Given the description of an element on the screen output the (x, y) to click on. 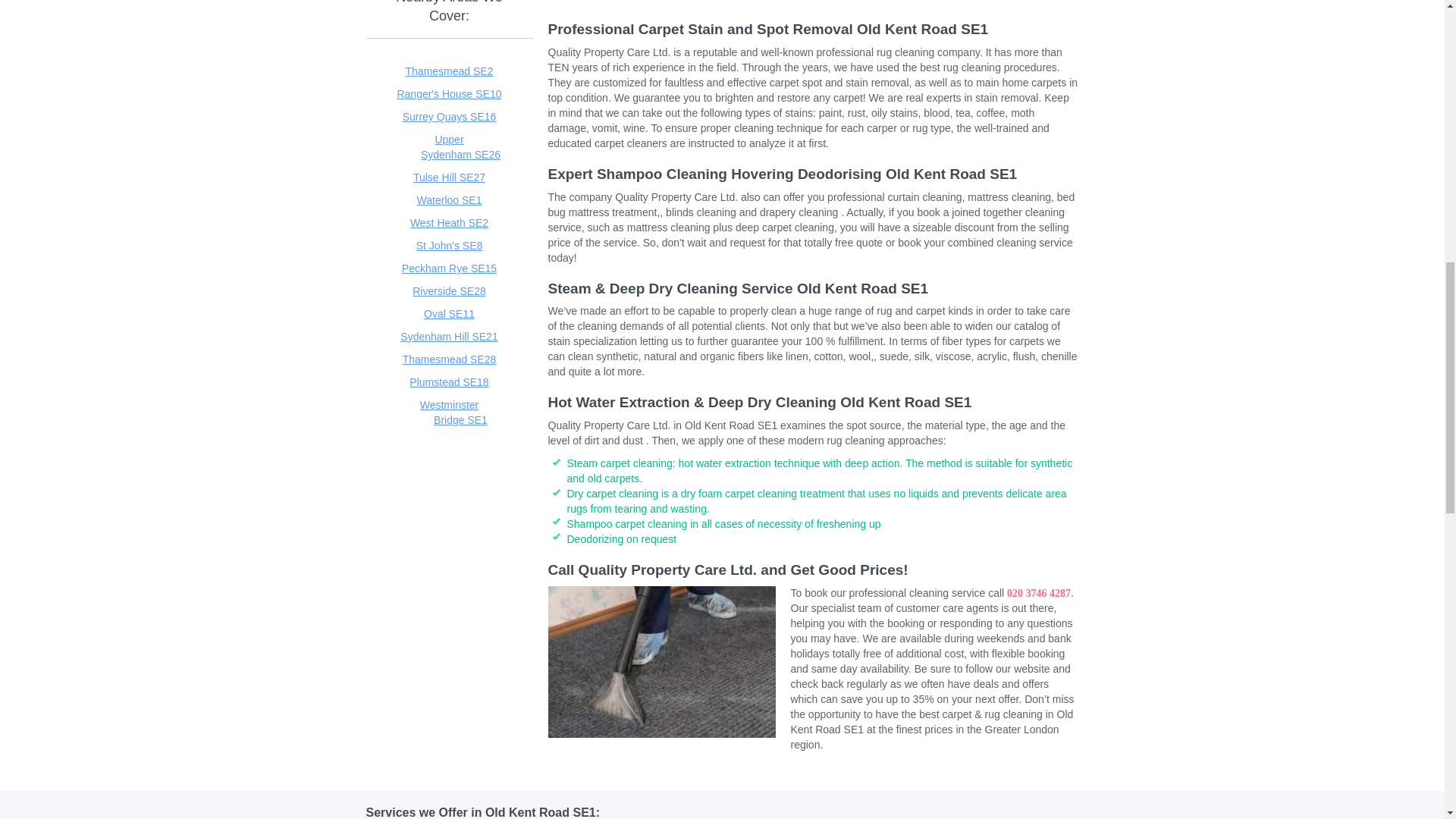
020 3746 4287 (1038, 592)
